Given the description of an element on the screen output the (x, y) to click on. 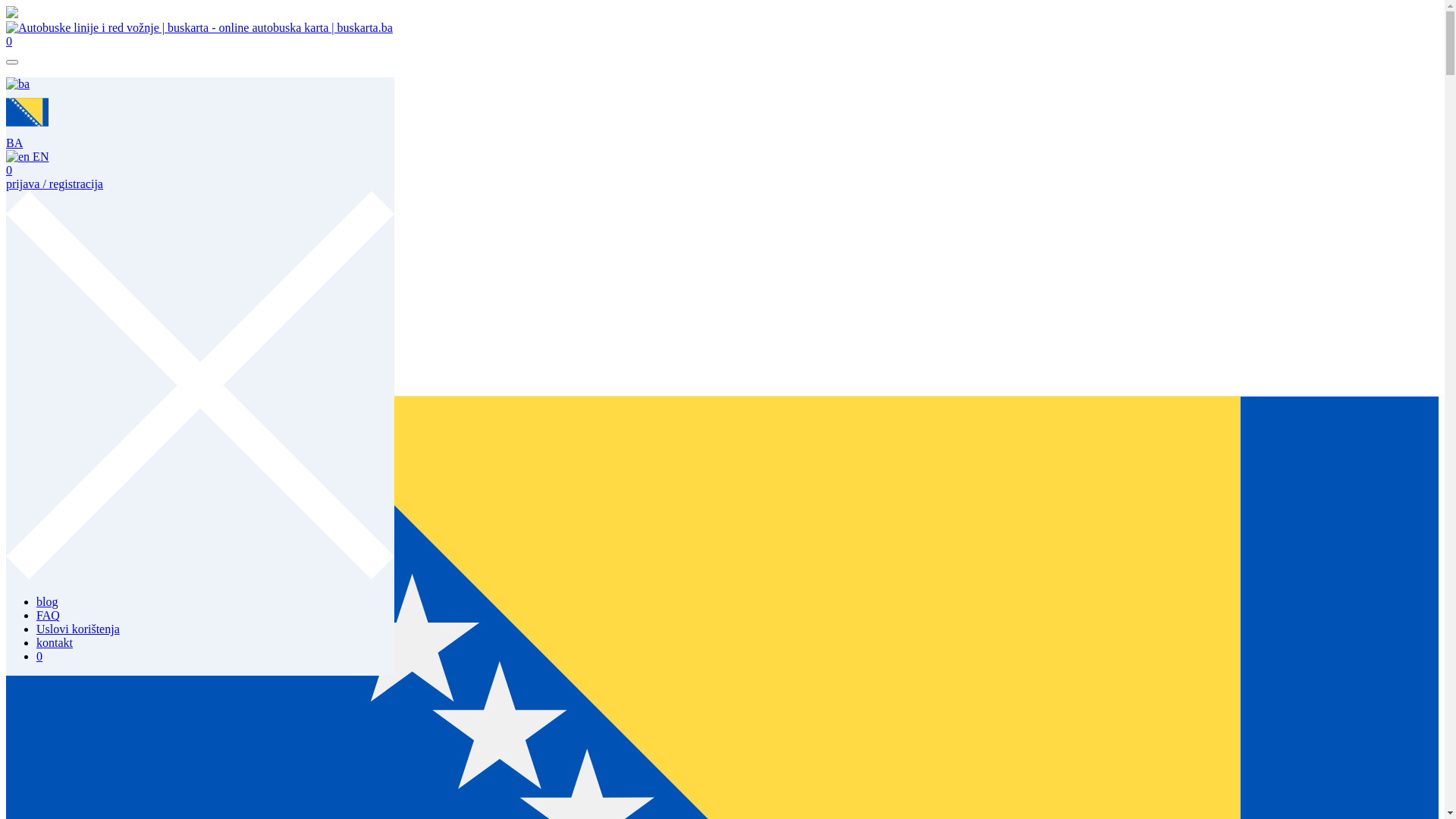
0 Element type: text (39, 137)
ba Element type: hover (17, 84)
kontakt Element type: text (54, 124)
blog Element type: text (46, 83)
FAQ Element type: text (47, 614)
EN Element type: text (27, 156)
0 Element type: text (39, 655)
BA Element type: text (27, 135)
blog Element type: text (46, 601)
FAQ Element type: text (47, 97)
kontakt Element type: text (54, 642)
0 Element type: text (9, 41)
en Element type: hover (17, 156)
prijava / registracija Element type: text (54, 183)
ba Element type: hover (27, 112)
0 Element type: text (9, 169)
